Given the description of an element on the screen output the (x, y) to click on. 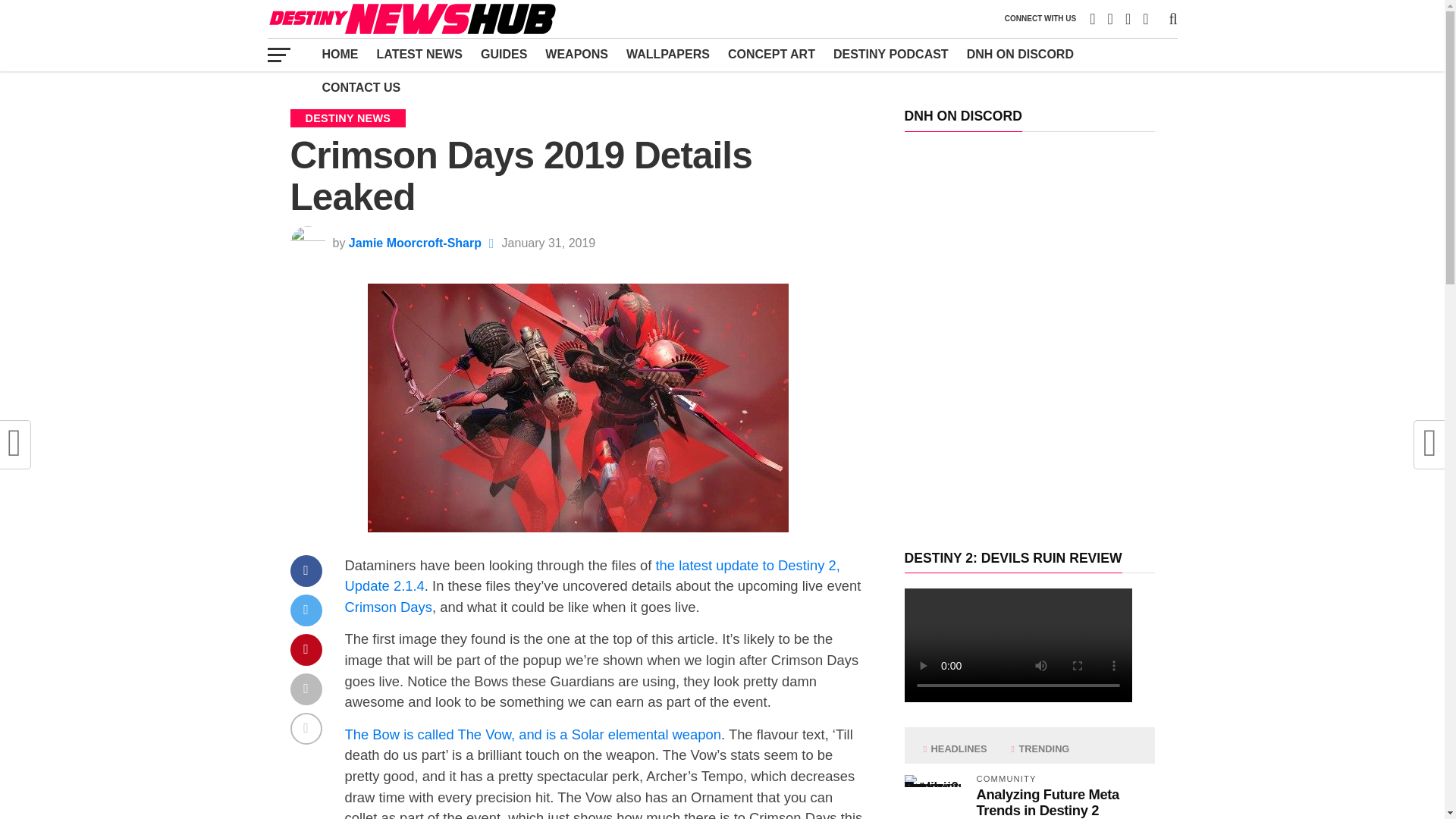
HOME (339, 54)
CONCEPT ART (771, 54)
GUIDES (503, 54)
Posts by Jamie Moorcroft-Sharp (415, 242)
Jamie Moorcroft-Sharp (415, 242)
DESTINY PODCAST (891, 54)
Crimson Days (386, 606)
LATEST NEWS (418, 54)
the latest update to Destiny 2, Update 2.1.4 (591, 574)
The Bow is called The Vow, and is a Solar elemental weapon (531, 734)
CONTACT US (361, 87)
DNH ON DISCORD (1020, 54)
WALLPAPERS (668, 54)
WEAPONS (576, 54)
